Given the description of an element on the screen output the (x, y) to click on. 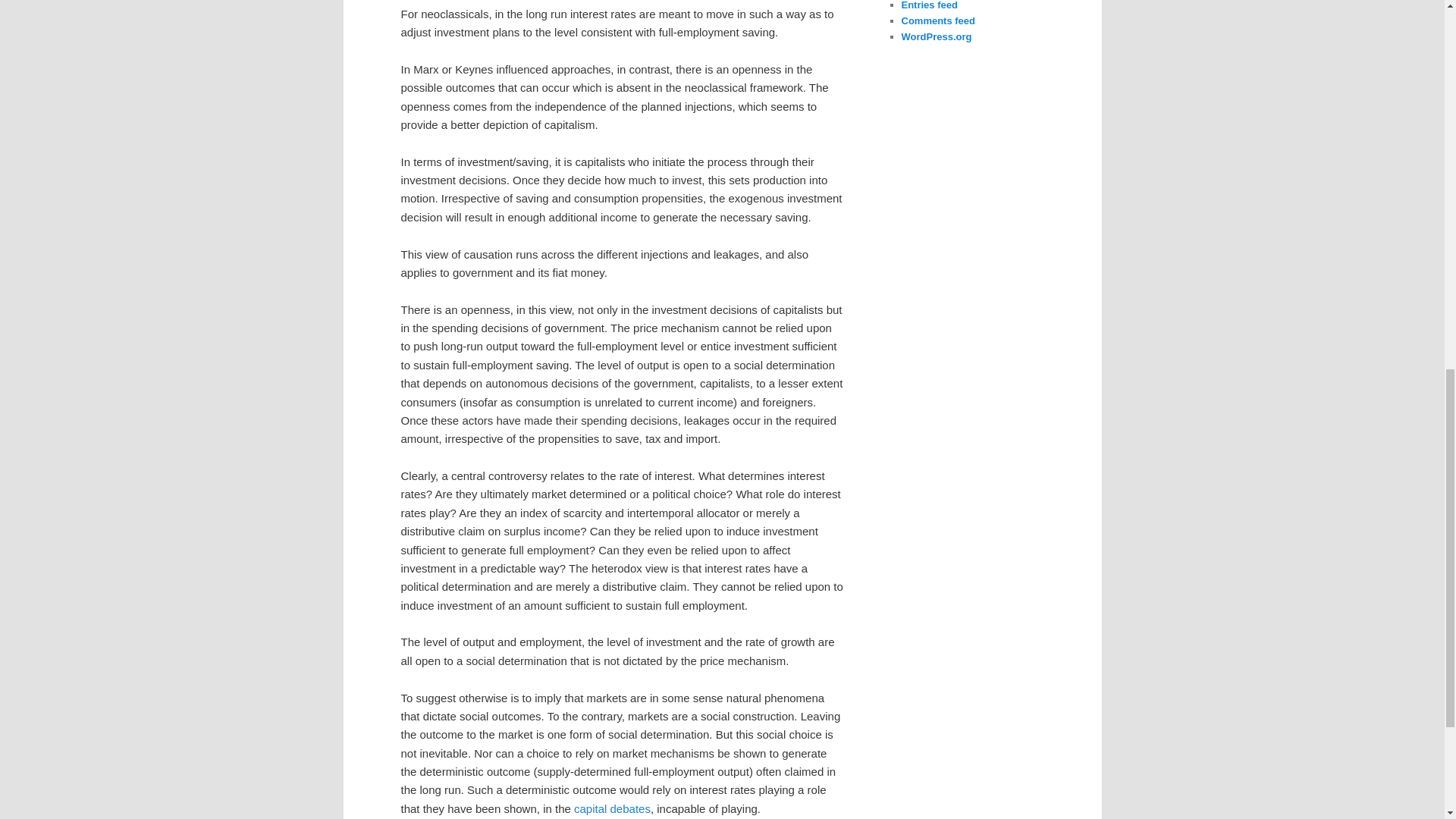
capital debates (611, 808)
